Given the description of an element on the screen output the (x, y) to click on. 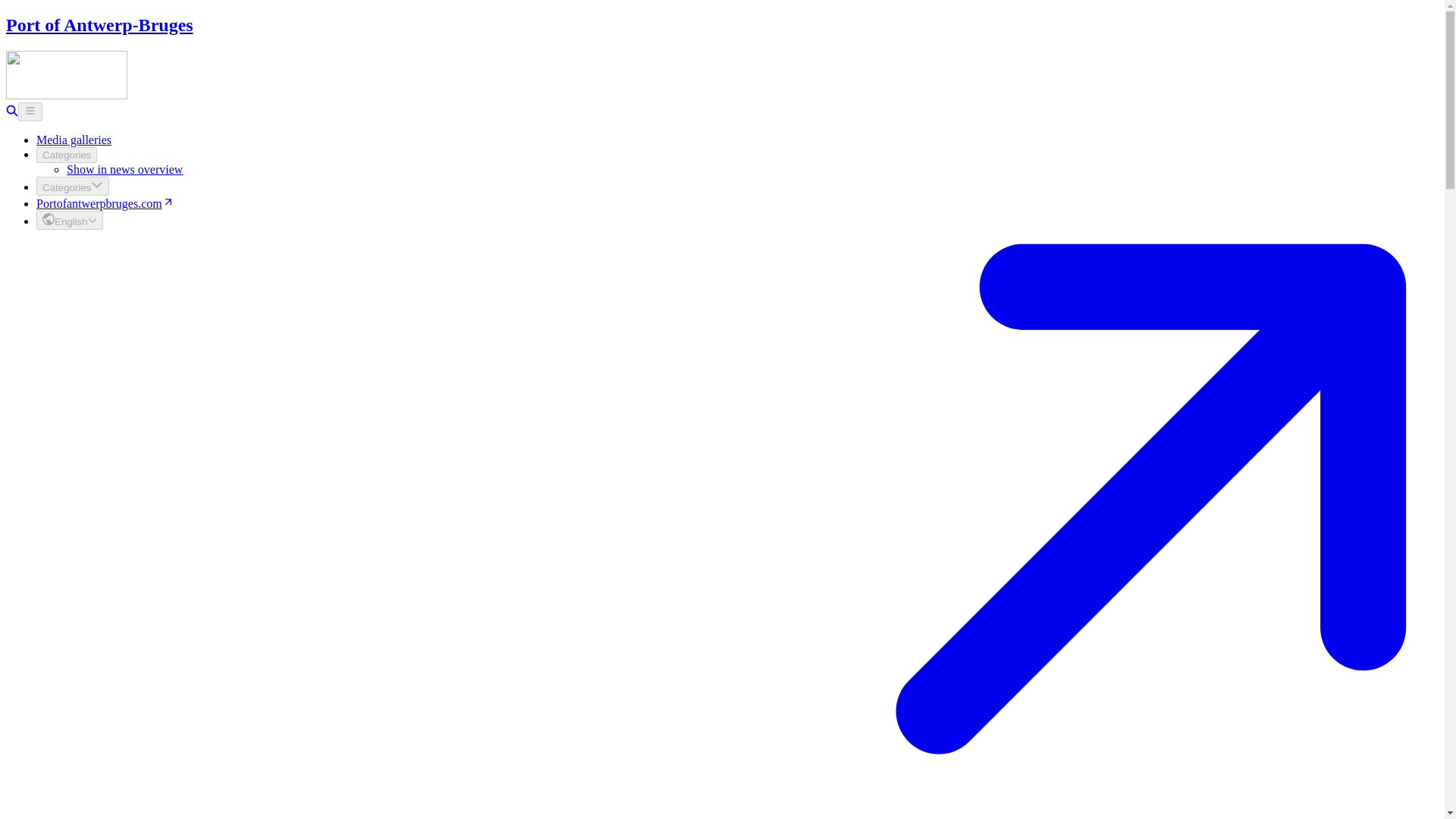
English (69, 220)
Categories (66, 154)
Media galleries (74, 139)
Toggle navigation (29, 111)
Categories (72, 185)
Portofantwerpbruges.com (105, 203)
Search (11, 112)
Show in news overview (124, 169)
